Given the description of an element on the screen output the (x, y) to click on. 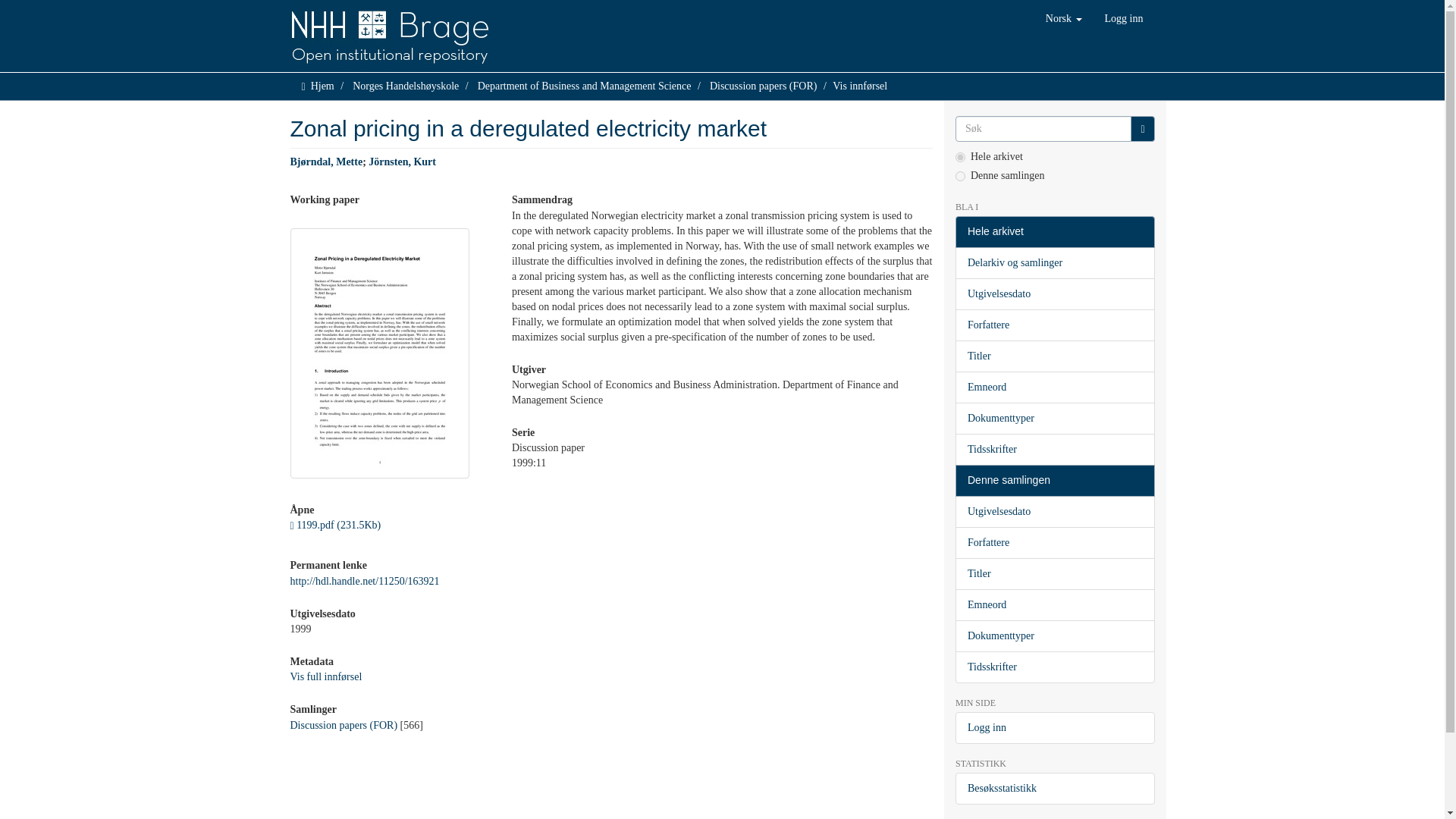
Forfattere (1054, 325)
Hele arkivet (1054, 232)
Department of Business and Management Science (584, 85)
Logg inn (1123, 18)
Hjem (322, 85)
Delarkiv og samlinger (1054, 263)
Norsk  (1063, 18)
Titler (1054, 356)
Utgivelsesdato (1054, 294)
